Given the description of an element on the screen output the (x, y) to click on. 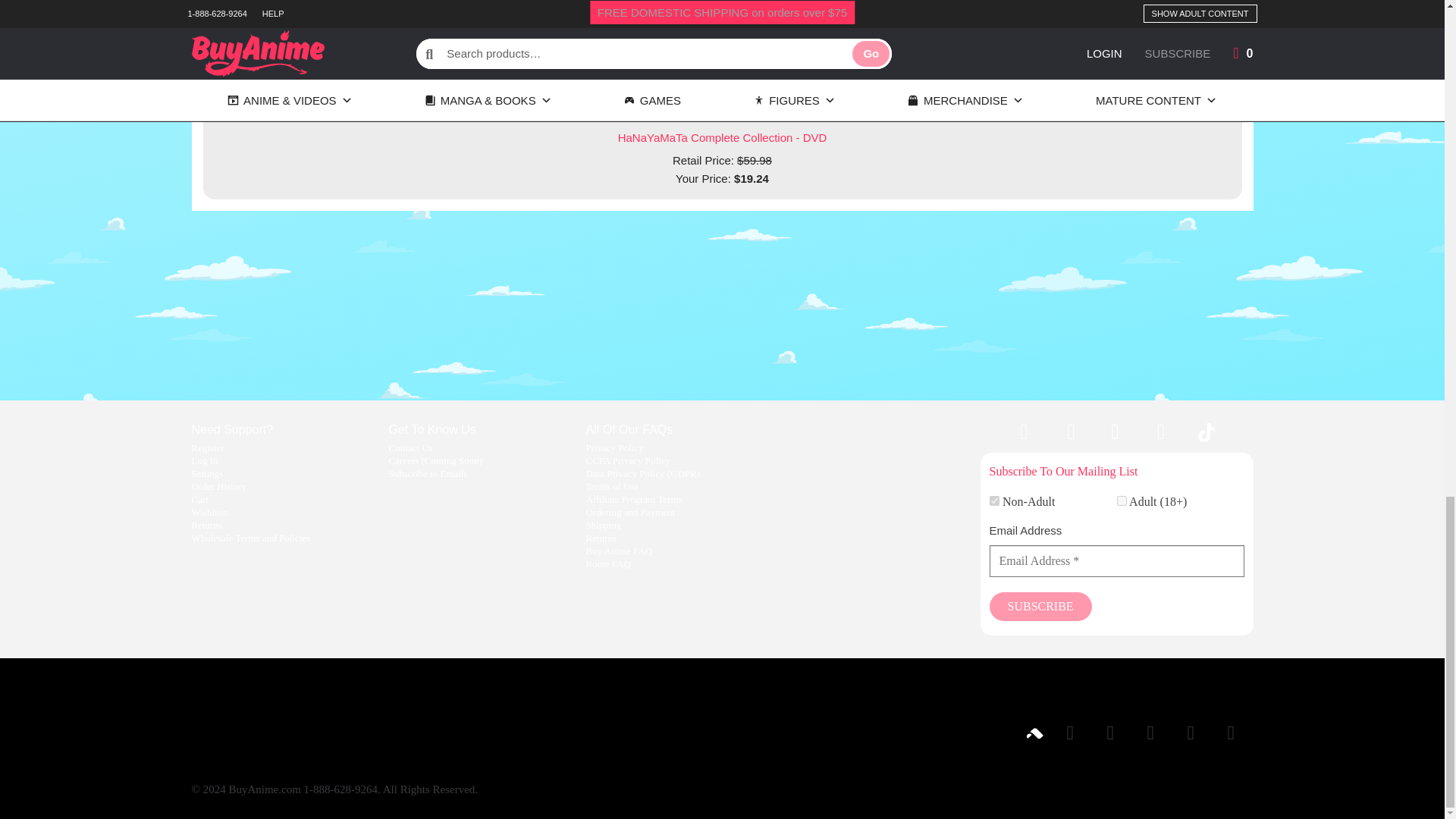
Subscribe (1039, 606)
1 (993, 501)
1 (1120, 501)
